Given the description of an element on the screen output the (x, y) to click on. 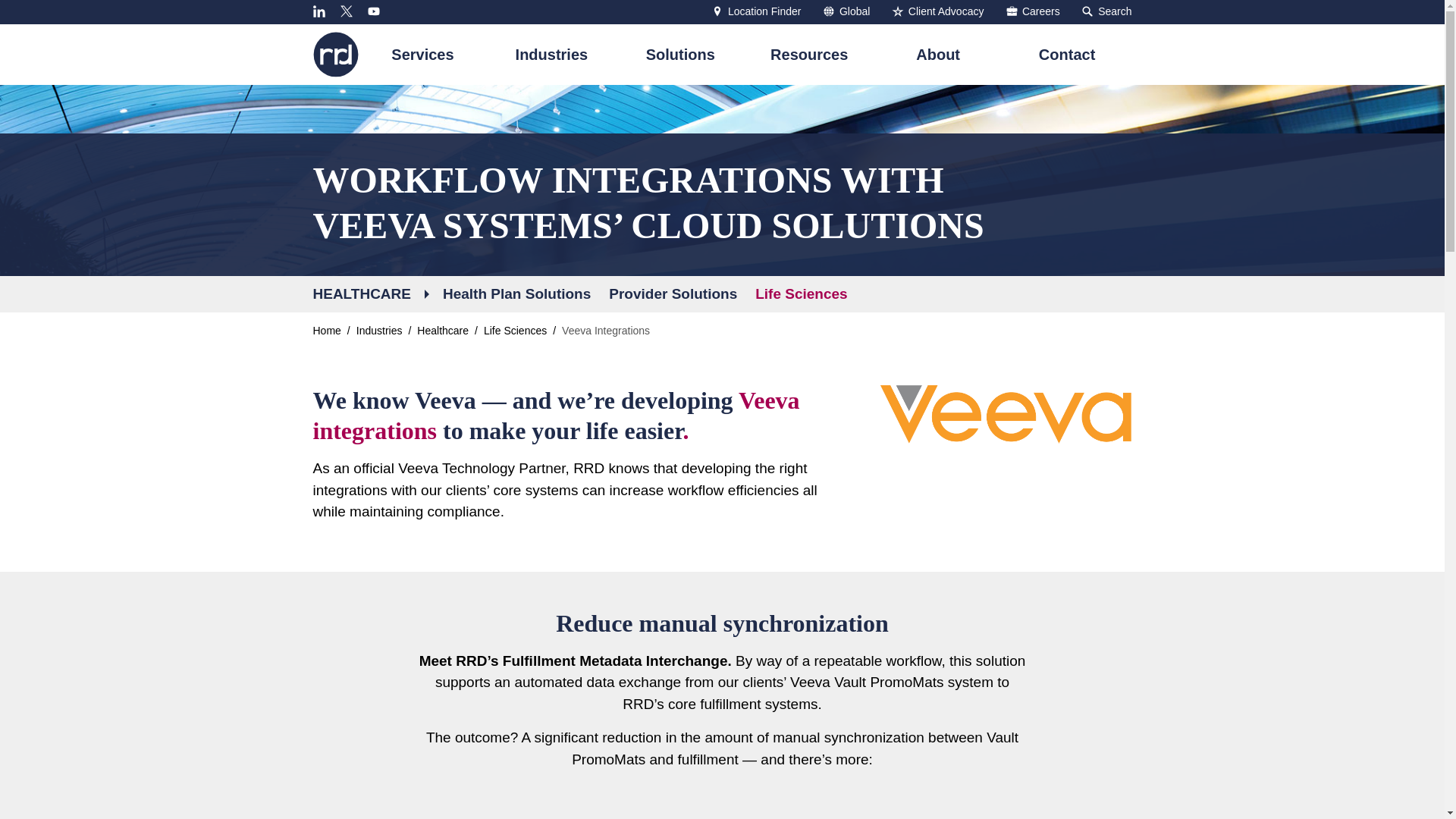
rrdlogo for header (335, 53)
TwitterX logo icon (346, 10)
Twitter (346, 10)
Youtube (374, 10)
TwitterX logo icon (346, 10)
rrd (756, 10)
Client AdvocacyStar icon (335, 53)
Industries (897, 10)
Careers (937, 10)
LinkedIn (1106, 10)
rrdlogo for header (550, 62)
